Given the description of an element on the screen output the (x, y) to click on. 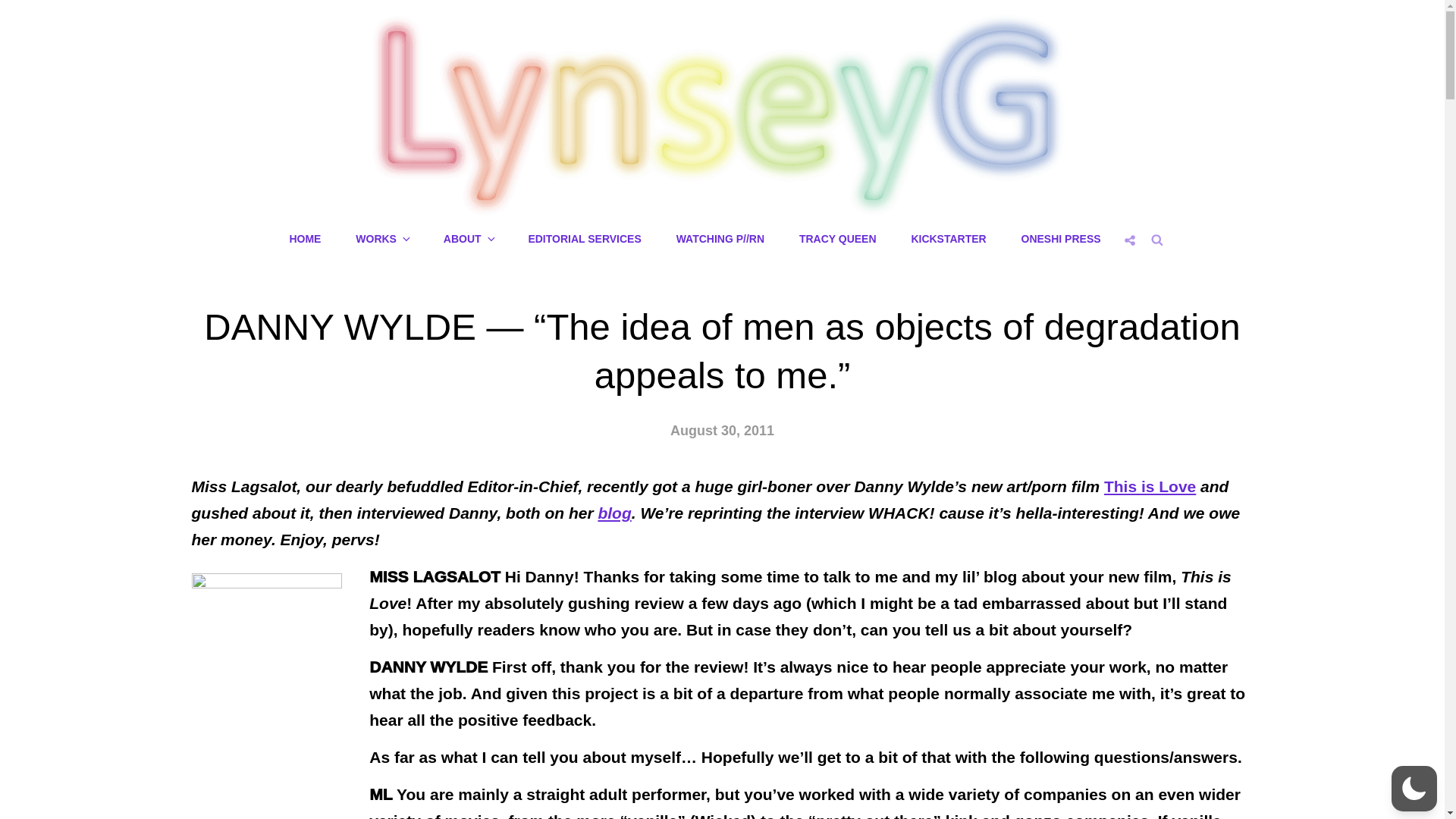
ONESHI PRESS (1061, 238)
Search (1156, 238)
HOME (304, 238)
LYNSEY G (769, 228)
ABOUT (468, 238)
EDITORIAL SERVICES (584, 238)
TRACY QUEEN (837, 238)
KICKSTARTER (948, 238)
Social Share (1129, 239)
WORKS (381, 238)
